Given the description of an element on the screen output the (x, y) to click on. 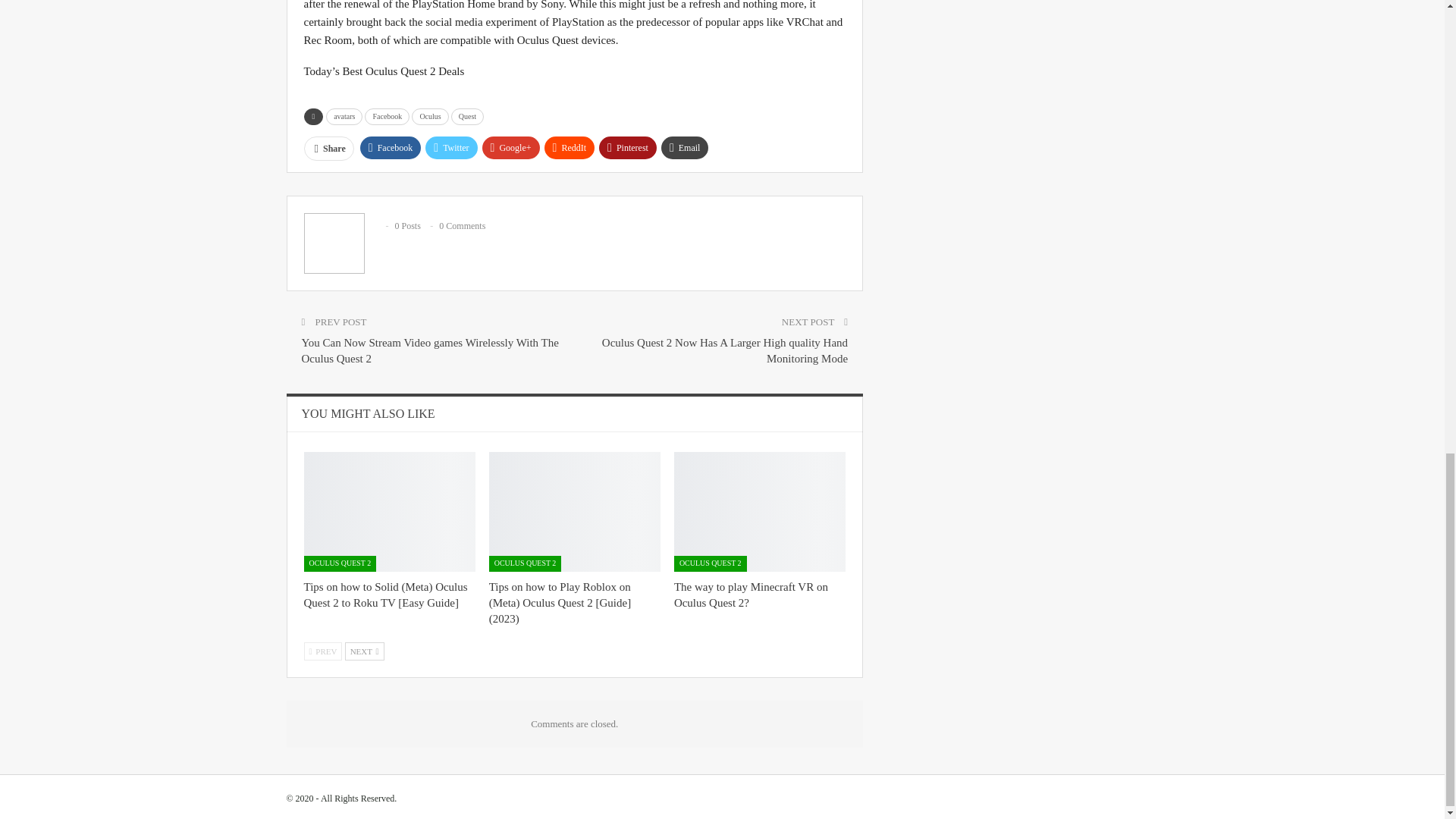
Pinterest (627, 147)
Twitter (451, 147)
The way to play Minecraft VR on Oculus Quest 2? (759, 511)
Previous (322, 651)
ReddIt (569, 147)
Facebook (387, 116)
YOU MIGHT ALSO LIKE (368, 413)
avatars (344, 116)
Facebook (390, 147)
Oculus (430, 116)
Email (685, 147)
The way to play Minecraft VR on Oculus Quest 2? (751, 594)
Quest (467, 116)
